Given the description of an element on the screen output the (x, y) to click on. 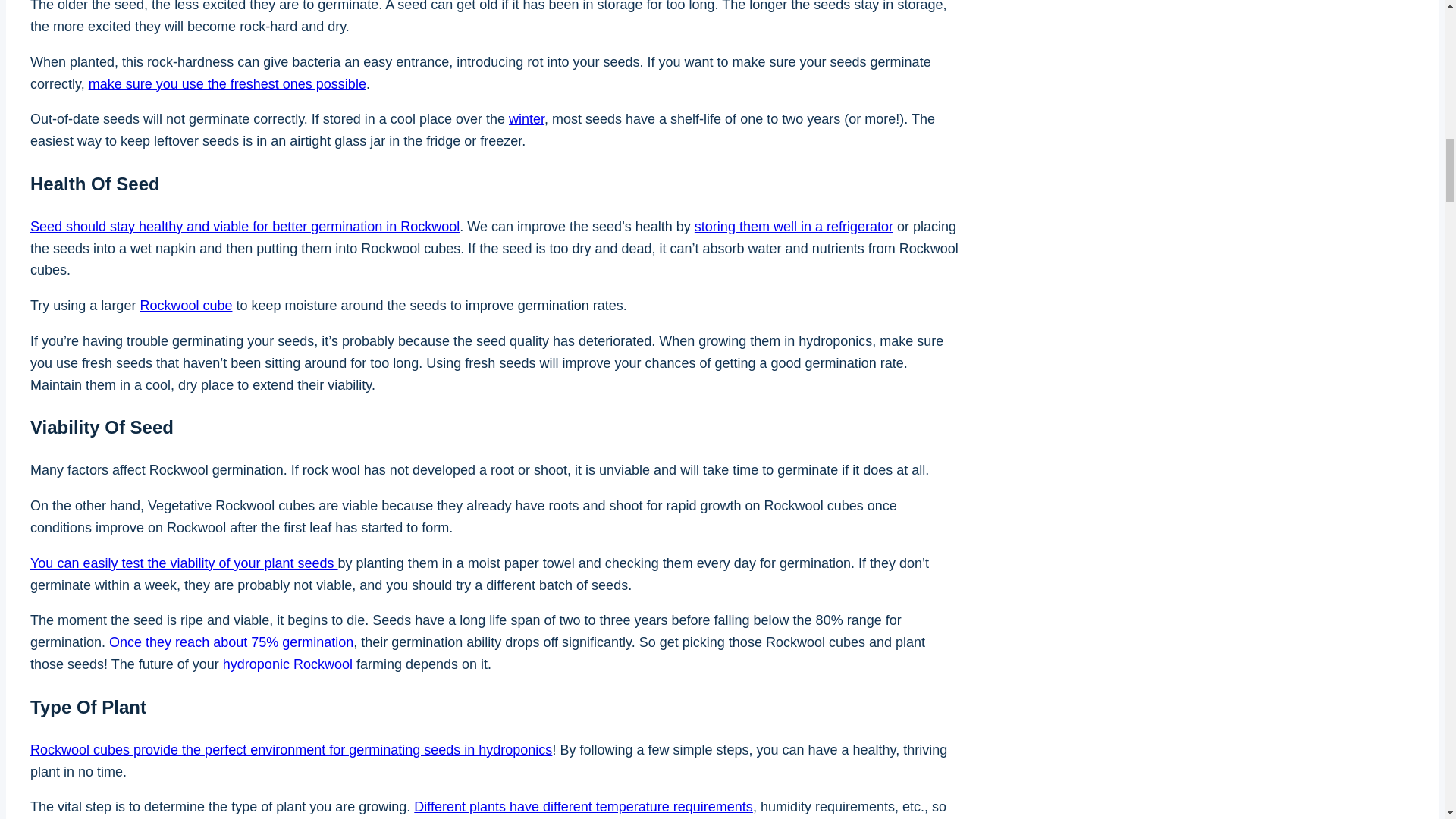
Is Rockwool Safe to use in Hydroponic? (290, 749)
4 Best 1.5 Inch Hydroponic Rockwool from Amazon (287, 663)
Oasis vs. Rockwool Cubes. How to Choose? (185, 305)
